Given the description of an element on the screen output the (x, y) to click on. 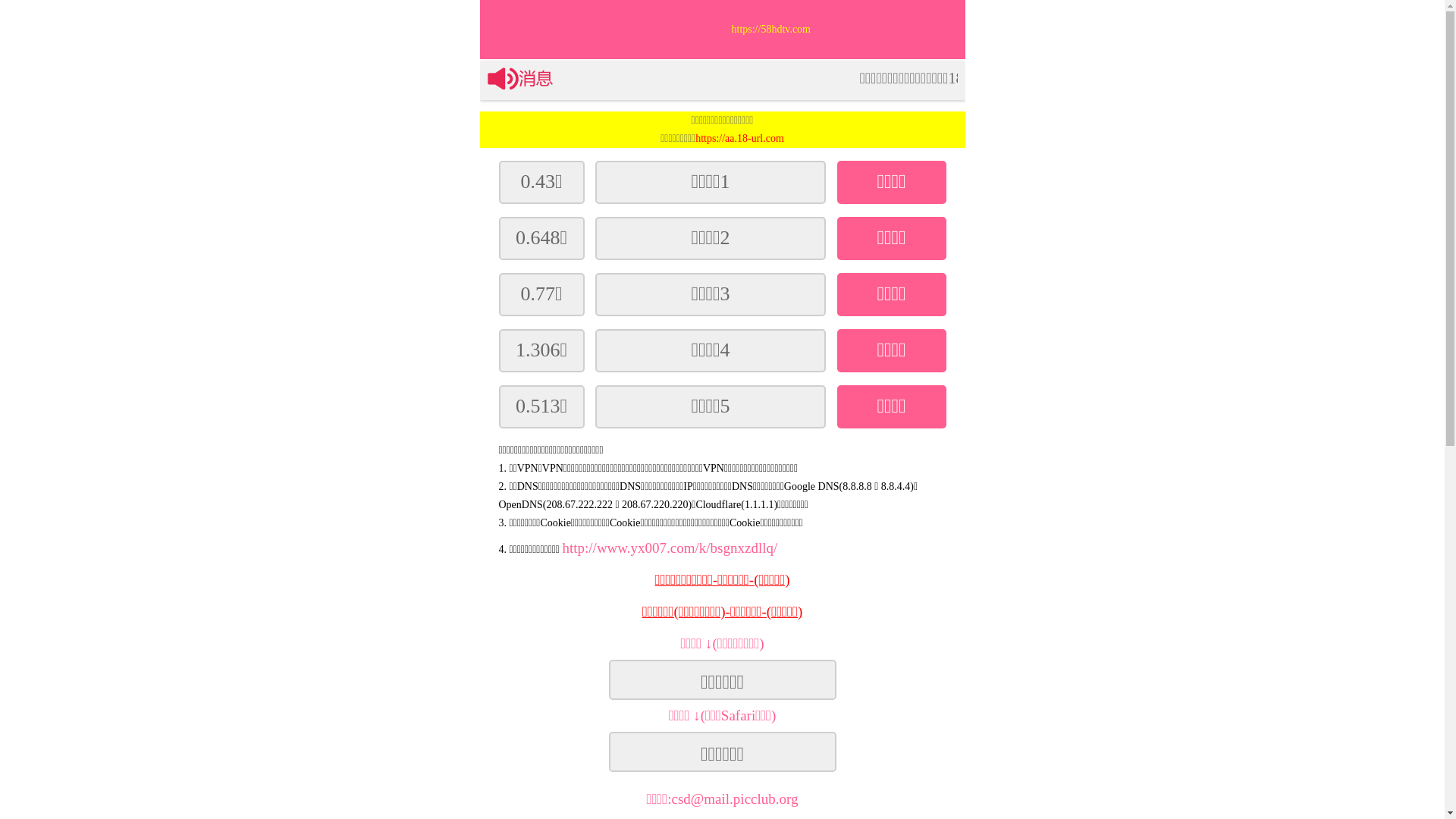
https://aa.18-url.com Element type: text (739, 138)
http://www.yx007.com/k/bsgnxzdllq/ Element type: text (669, 547)
https://58hottv.com Element type: text (847, 29)
csd@mail.picclub.org Element type: text (734, 798)
